Given the description of an element on the screen output the (x, y) to click on. 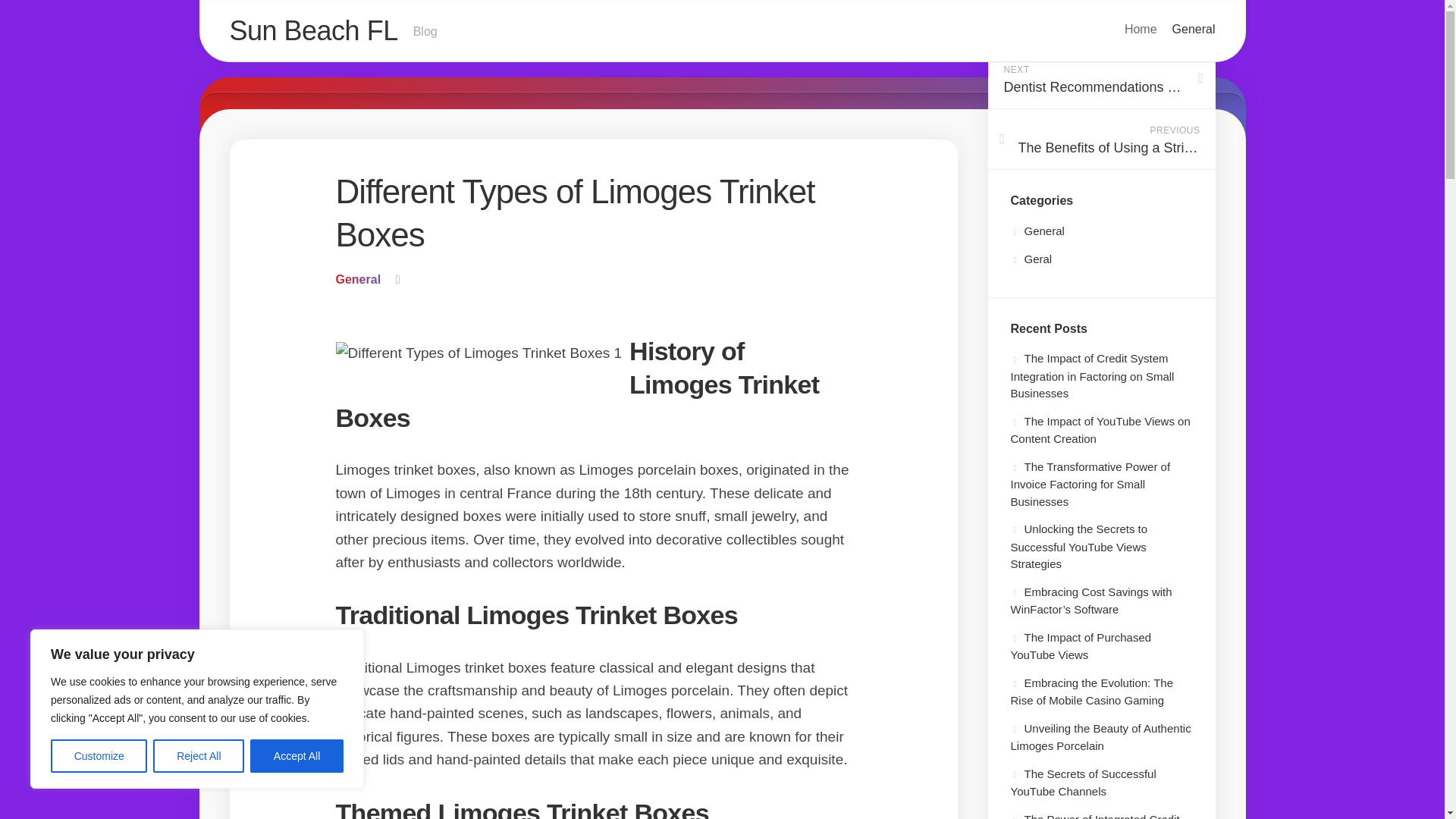
Home (1140, 29)
Sun Beach FL (312, 31)
General (1193, 29)
Geral (1030, 258)
Customize (721, 31)
General (98, 756)
Reject All (357, 278)
Accept All (198, 756)
General (296, 756)
